Given the description of an element on the screen output the (x, y) to click on. 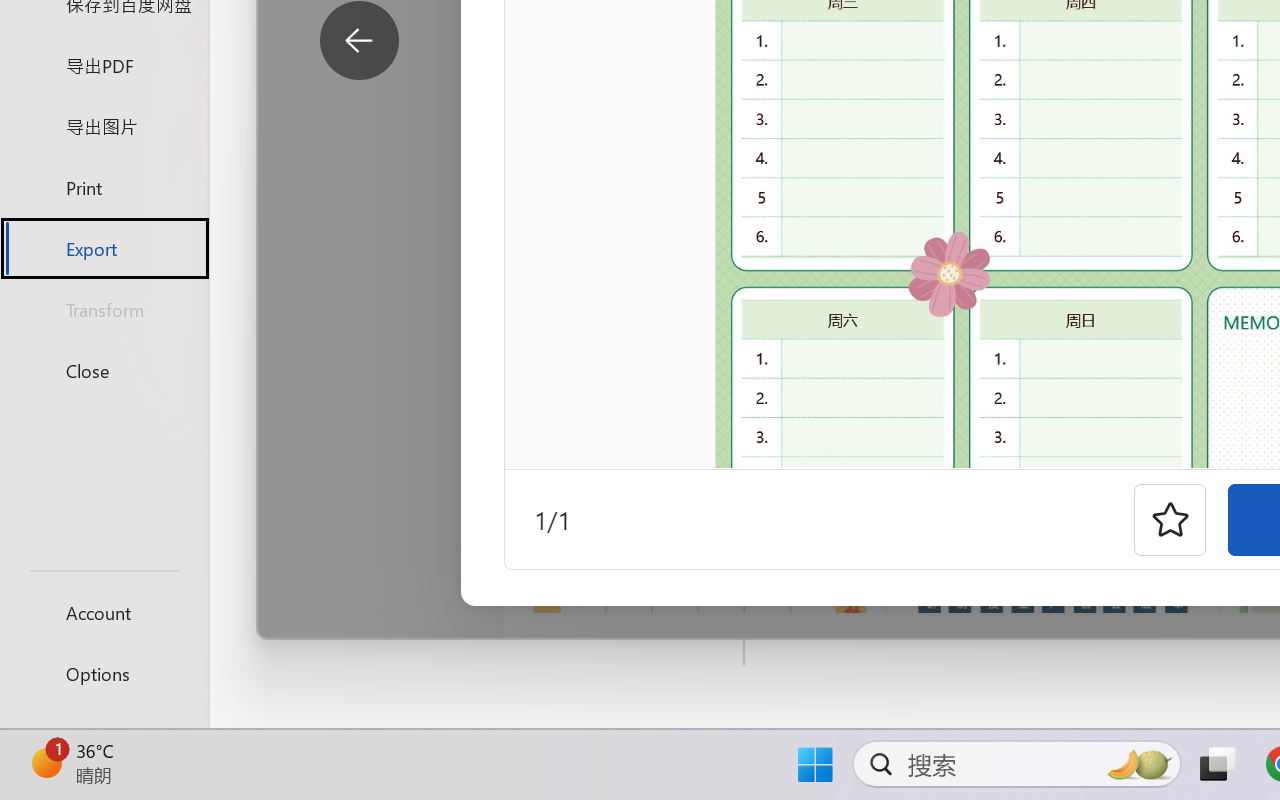
Print (104, 186)
Options (104, 673)
Account (104, 612)
Transform (104, 309)
Export (104, 248)
